Given the description of an element on the screen output the (x, y) to click on. 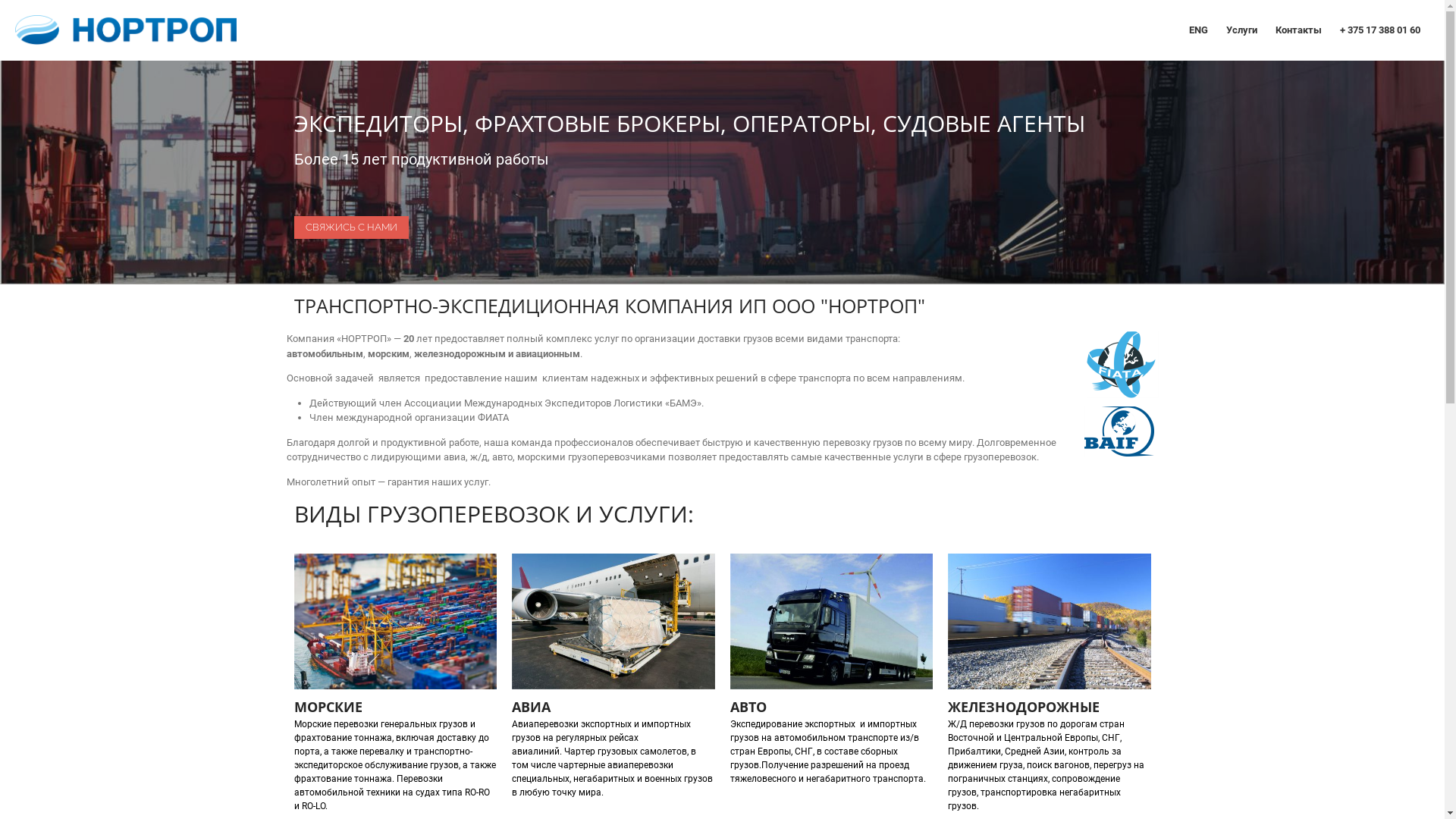
ENG Element type: text (1198, 29)
+ 375 17 388 01 60 Element type: text (1379, 29)
